Given the description of an element on the screen output the (x, y) to click on. 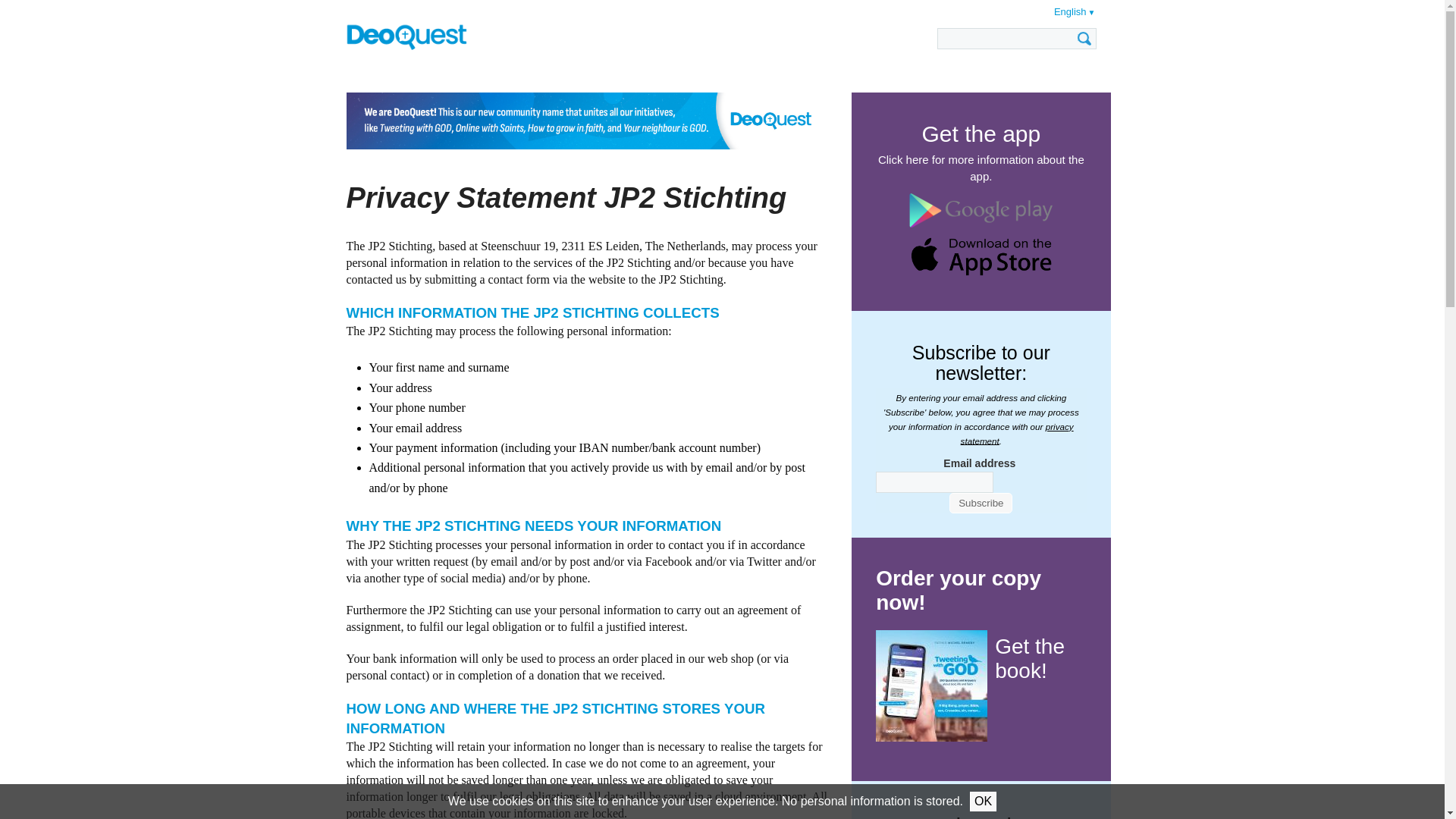
Search (1084, 38)
Enter the terms you wish to search for. (1016, 38)
Search (1084, 38)
Subscribe (980, 503)
Home (405, 35)
